Given the description of an element on the screen output the (x, y) to click on. 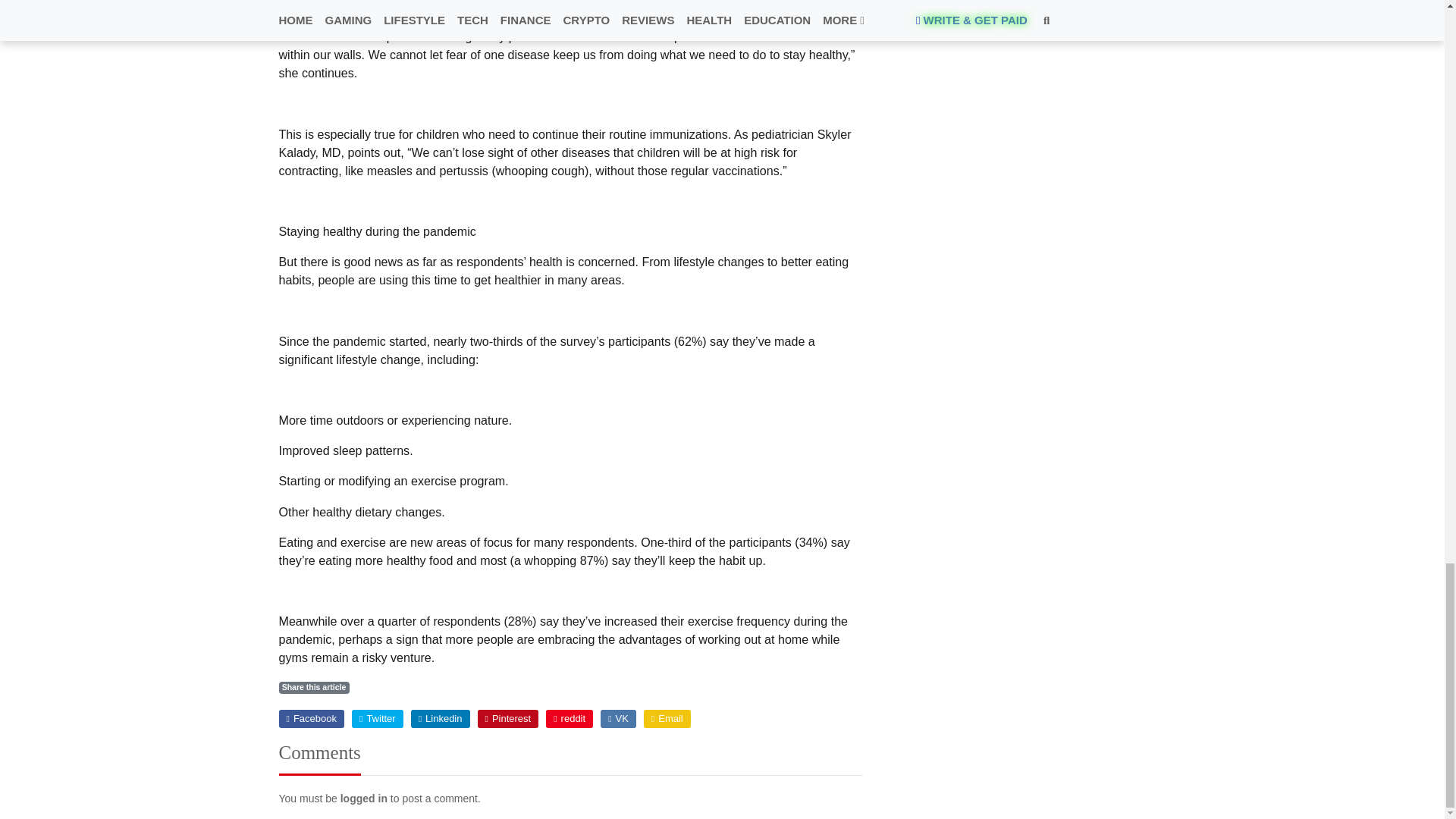
via email (666, 719)
